Given the description of an element on the screen output the (x, y) to click on. 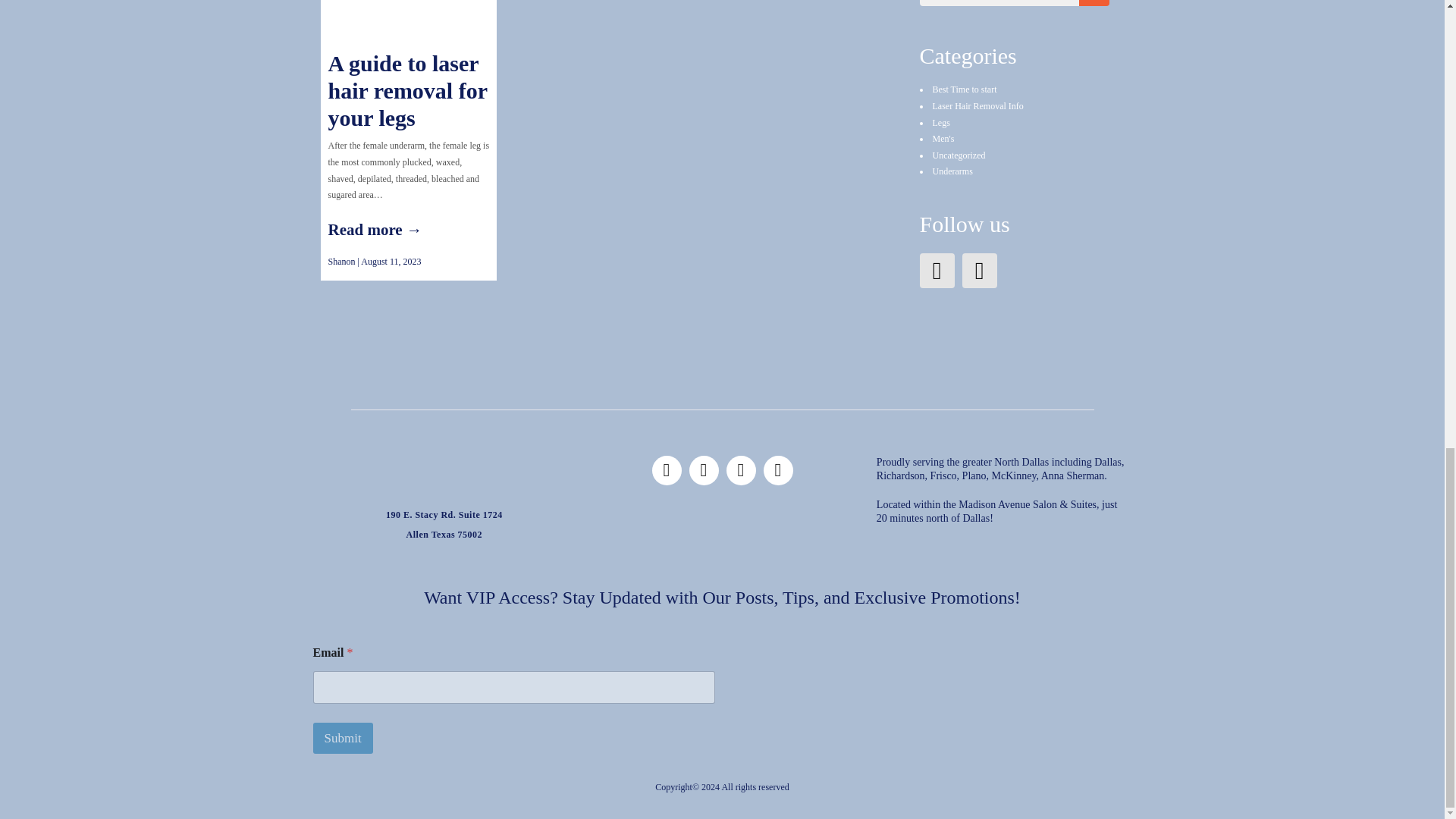
Uncategorized (959, 154)
Men's (944, 138)
A guide to laser hair removal for your legs (408, 93)
Legs (941, 122)
Best Time to start (965, 89)
Laser Hair Removal Info (978, 105)
Underarms (952, 171)
